Given the description of an element on the screen output the (x, y) to click on. 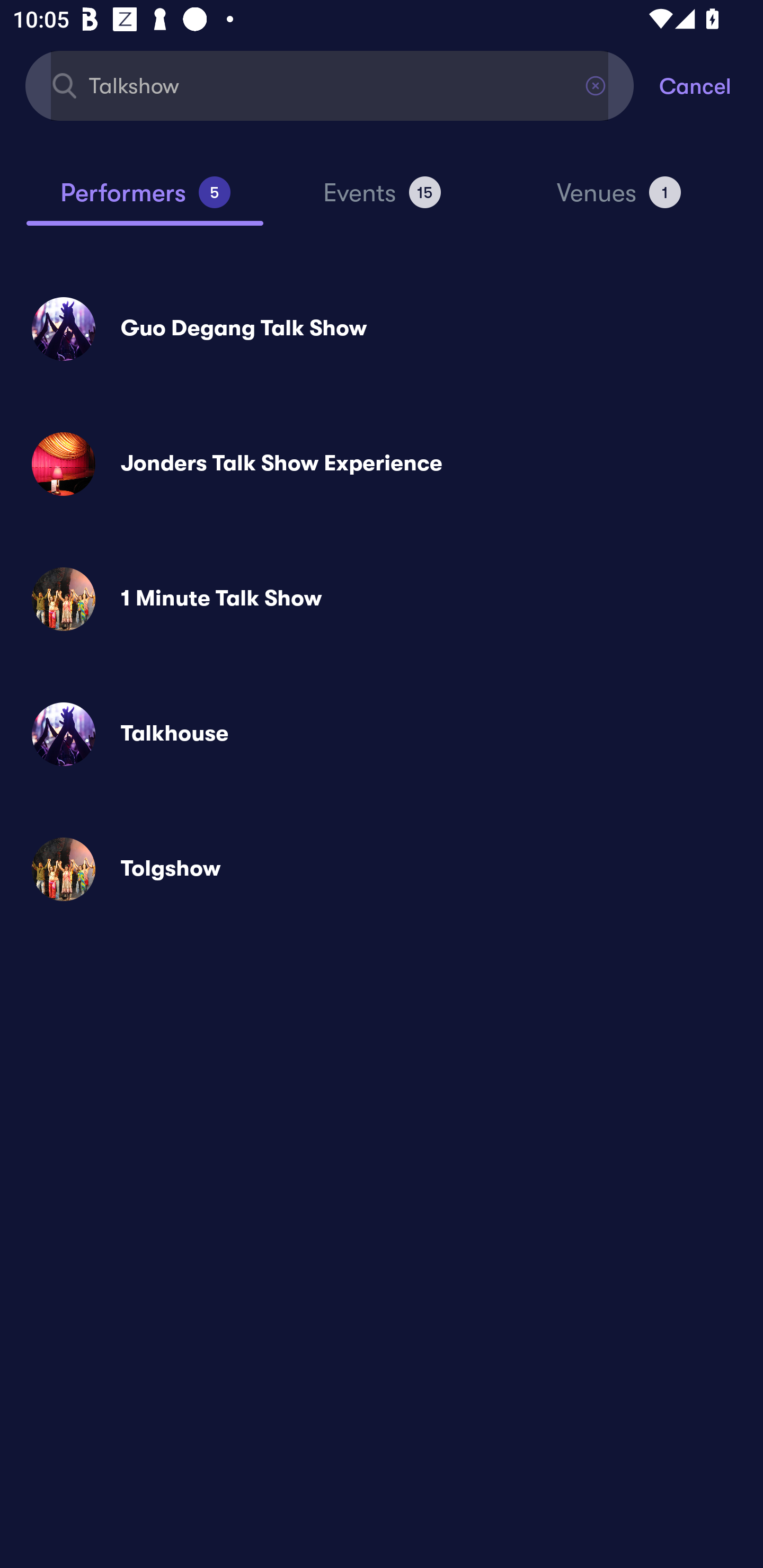
Talkshow Find (329, 85)
Talkshow Find (329, 85)
Cancel (711, 85)
Performers 5 (144, 200)
Events 15 (381, 200)
Venues 1 (618, 200)
Guo Degang Talk Show (381, 328)
Jonders Talk Show Experience (381, 464)
1 Minute Talk Show (381, 598)
Talkhouse (381, 734)
Tolgshow (381, 869)
